Given the description of an element on the screen output the (x, y) to click on. 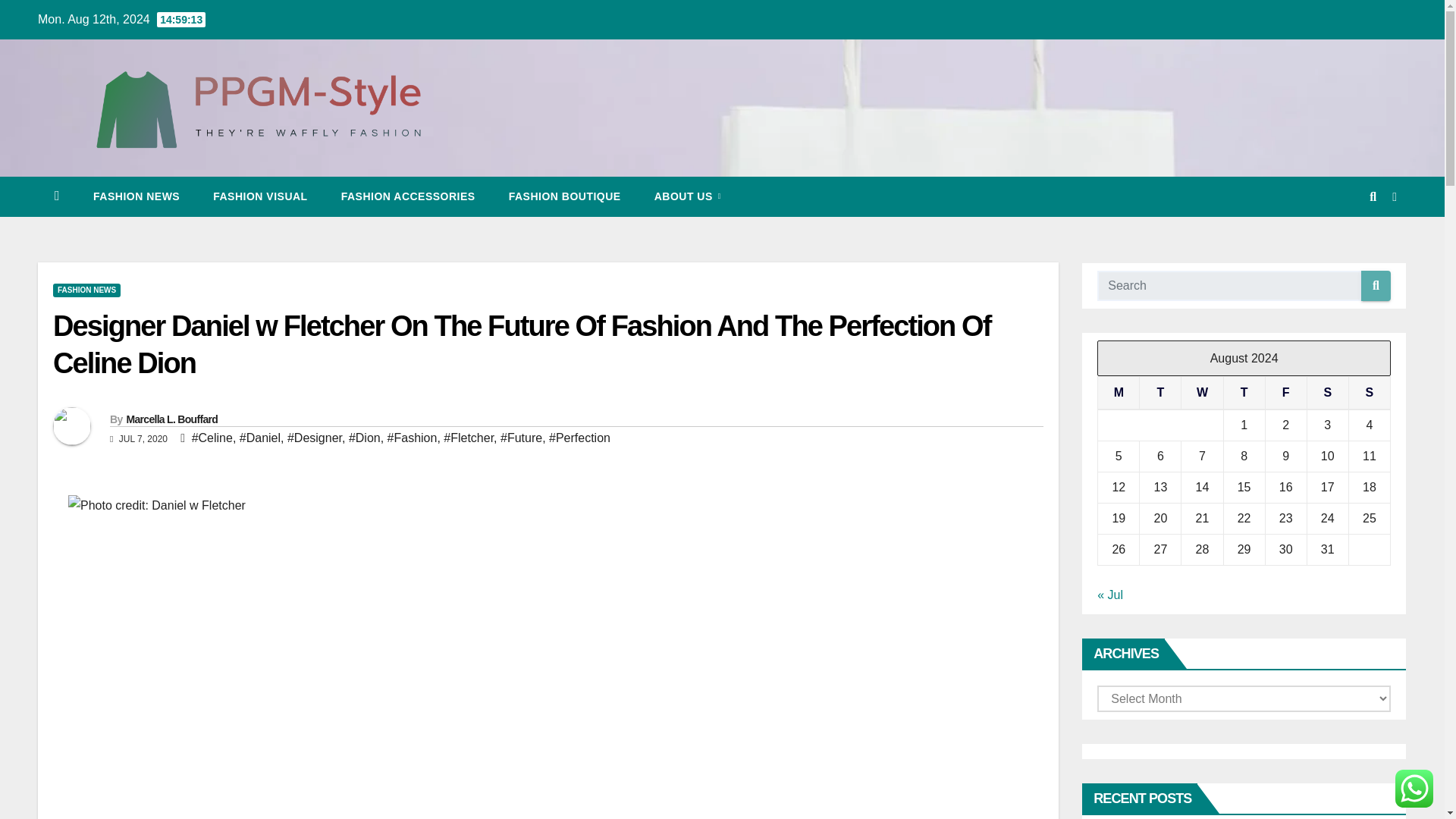
Fashion Accessories (408, 196)
Fashion News (136, 196)
About Us (687, 196)
Fashion Visual (259, 196)
FASHION ACCESSORIES (408, 196)
FASHION VISUAL (259, 196)
FASHION NEWS (136, 196)
FASHION BOUTIQUE (564, 196)
